Given the description of an element on the screen output the (x, y) to click on. 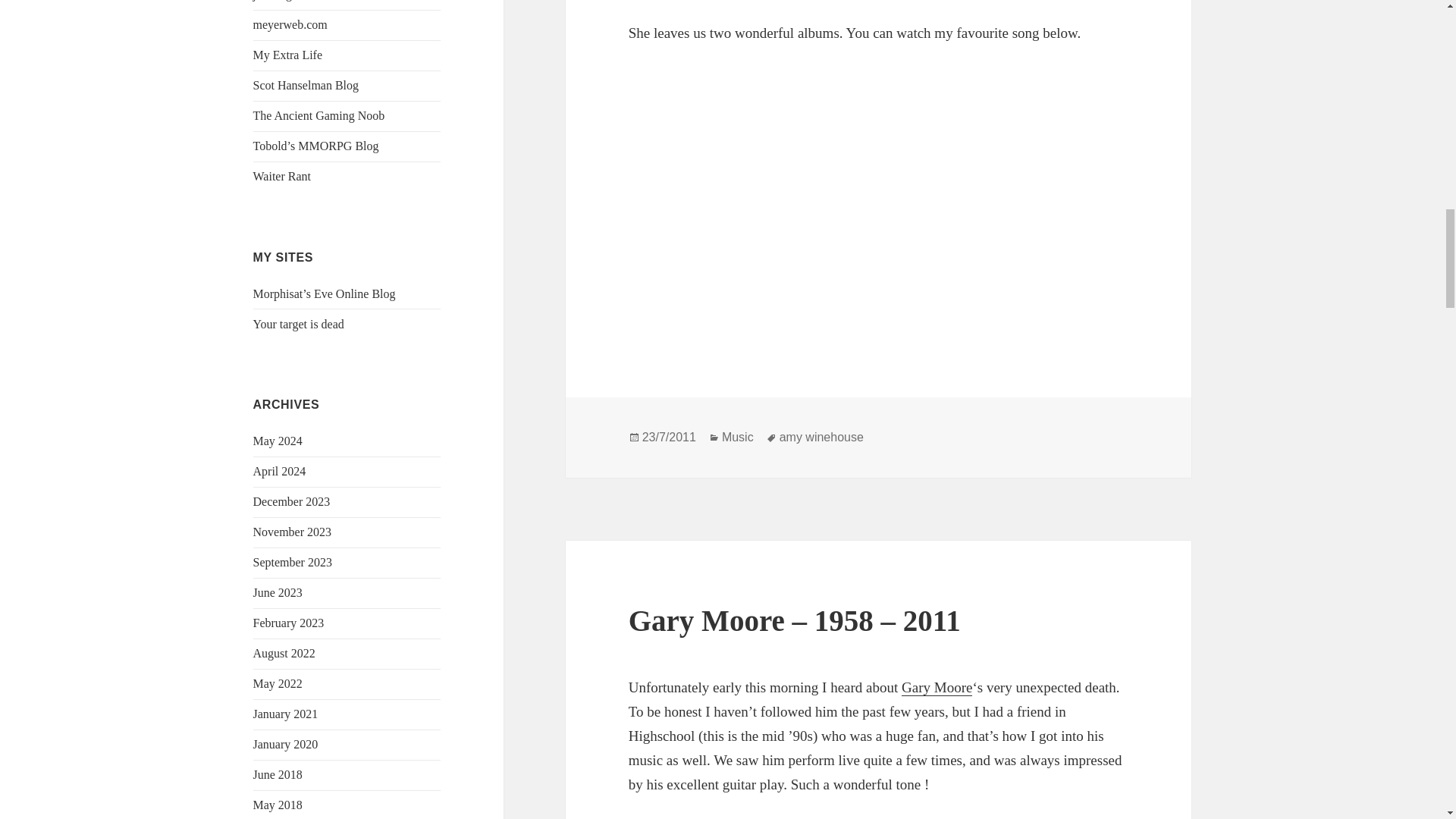
Scot Hanselman Blog (306, 84)
World of Warcraft Blog (298, 323)
Waiter Rant (282, 175)
My Eve Online Blog (324, 293)
My Extra Life (288, 54)
meyerweb.com (290, 24)
The Ancient Gaming Noob (319, 115)
